Given the description of an element on the screen output the (x, y) to click on. 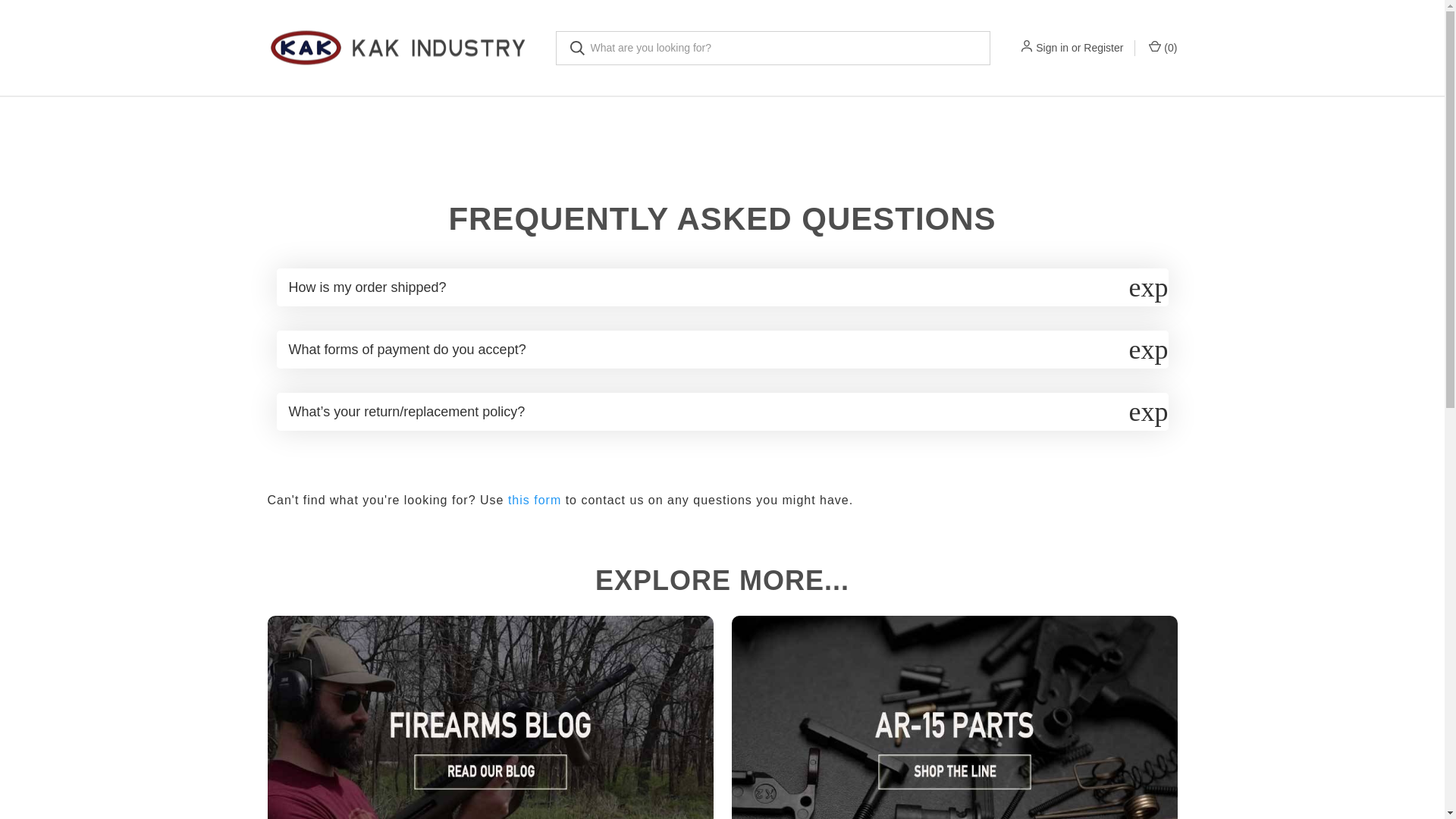
Register (1102, 47)
KAK INDUSTRY (399, 48)
Sign in (1051, 47)
